Given the description of an element on the screen output the (x, y) to click on. 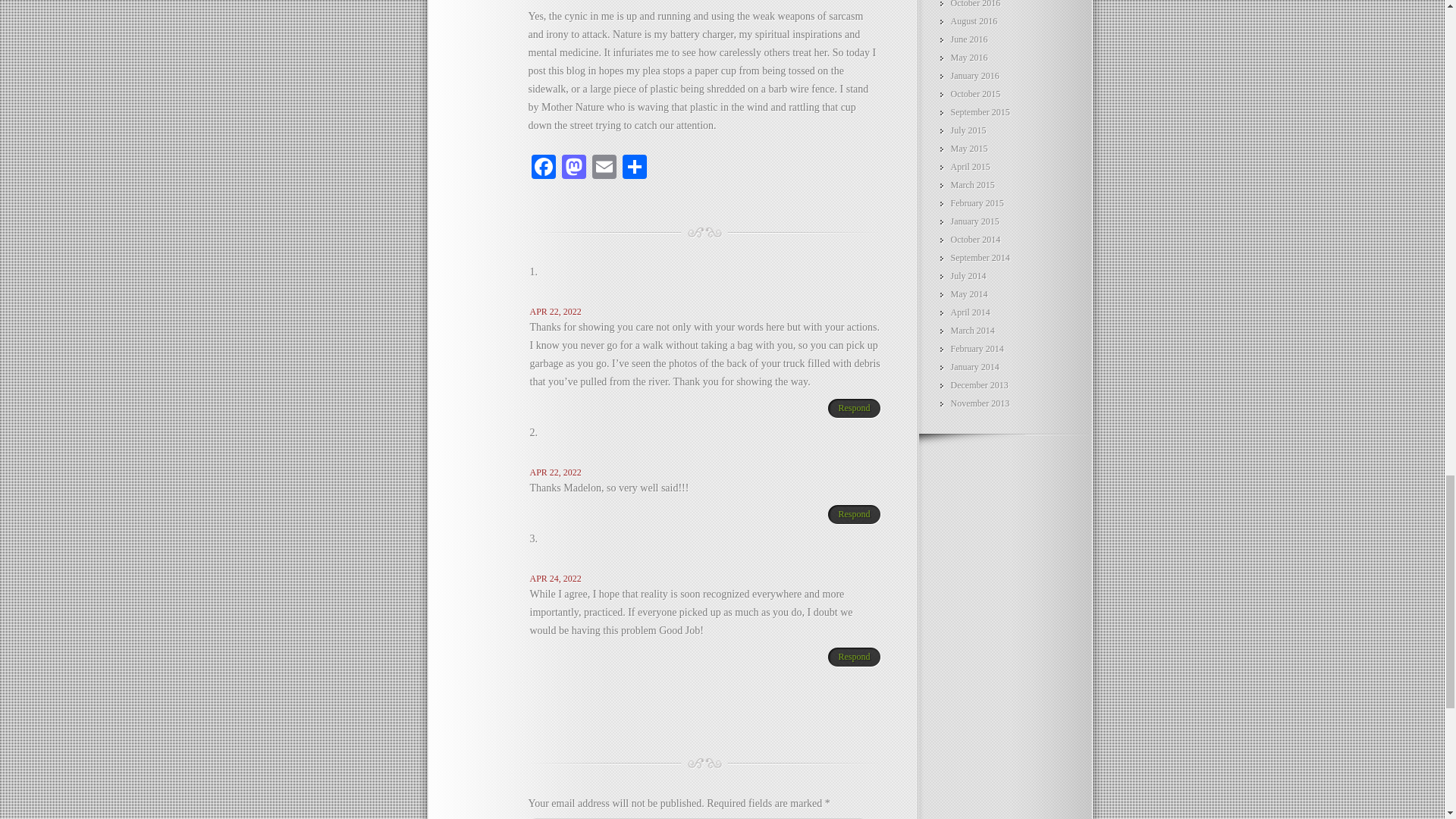
Facebook (542, 168)
Email (603, 168)
Respond (849, 408)
Respond (849, 514)
Share (633, 168)
Mastodon (572, 168)
Respond (849, 657)
Mastodon (572, 168)
Email (603, 168)
Facebook (542, 168)
